Given the description of an element on the screen output the (x, y) to click on. 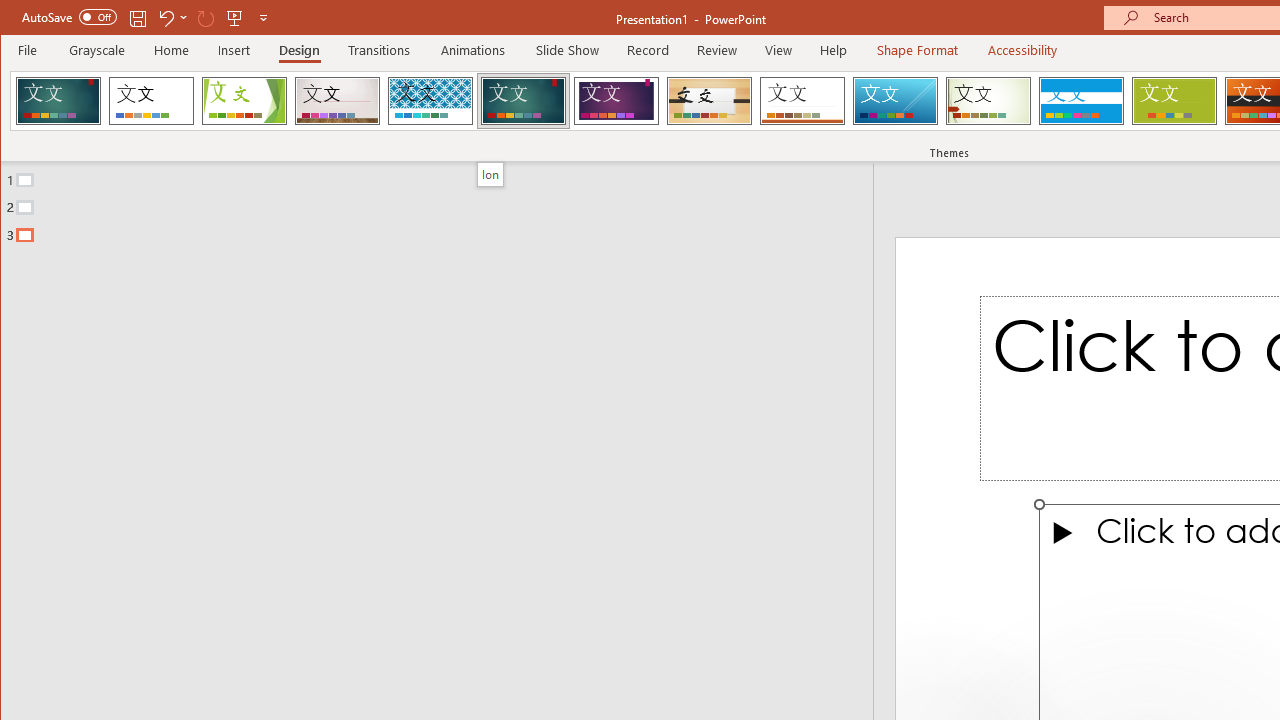
Basis (1174, 100)
Facet (244, 100)
Retrospect (802, 100)
Slice (895, 100)
Ion Boardroom (616, 100)
